Given the description of an element on the screen output the (x, y) to click on. 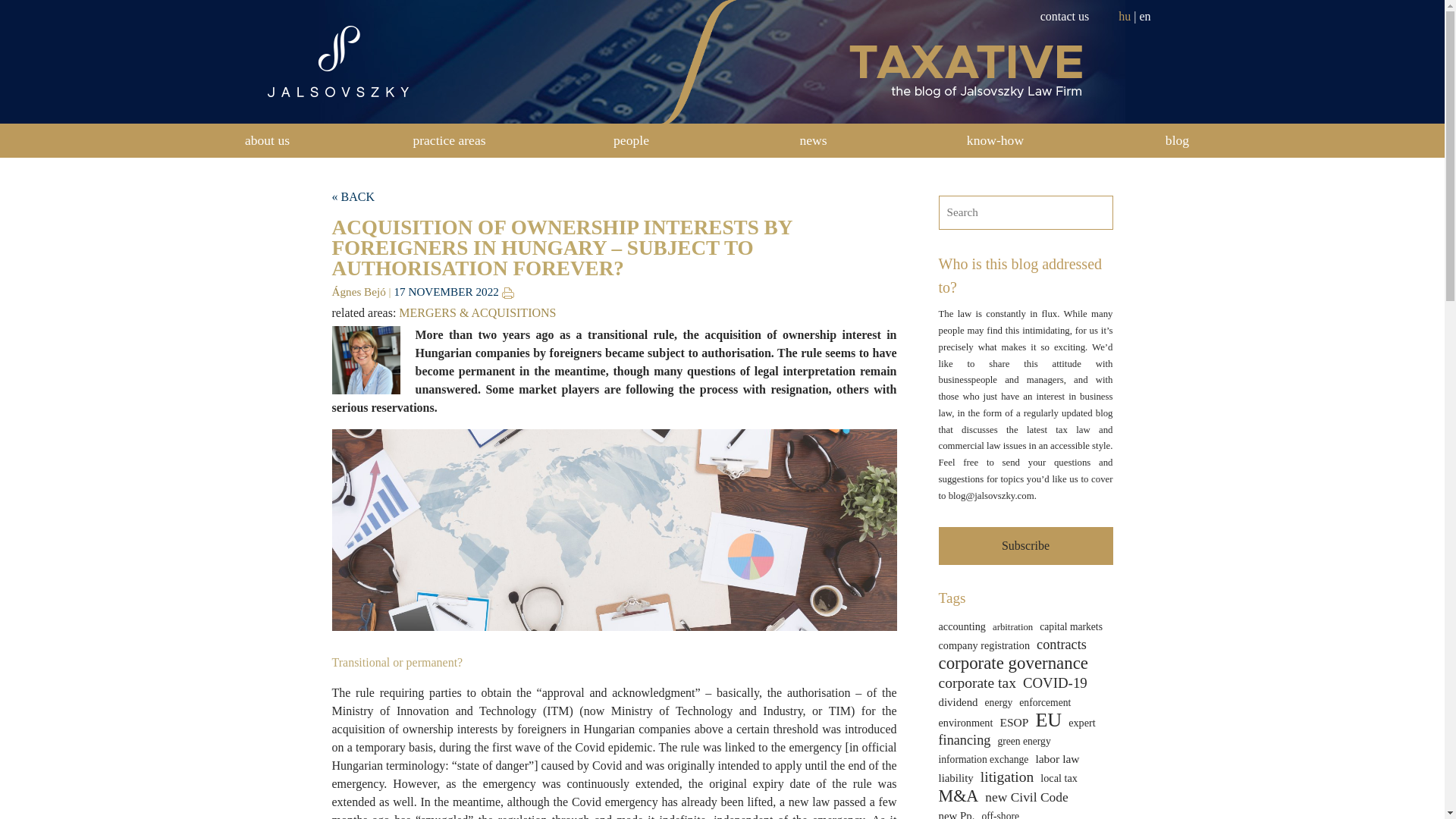
about us (266, 140)
practice areas (448, 140)
hu (1124, 15)
contact us (1065, 15)
know-how (994, 140)
people (630, 140)
